Given the description of an element on the screen output the (x, y) to click on. 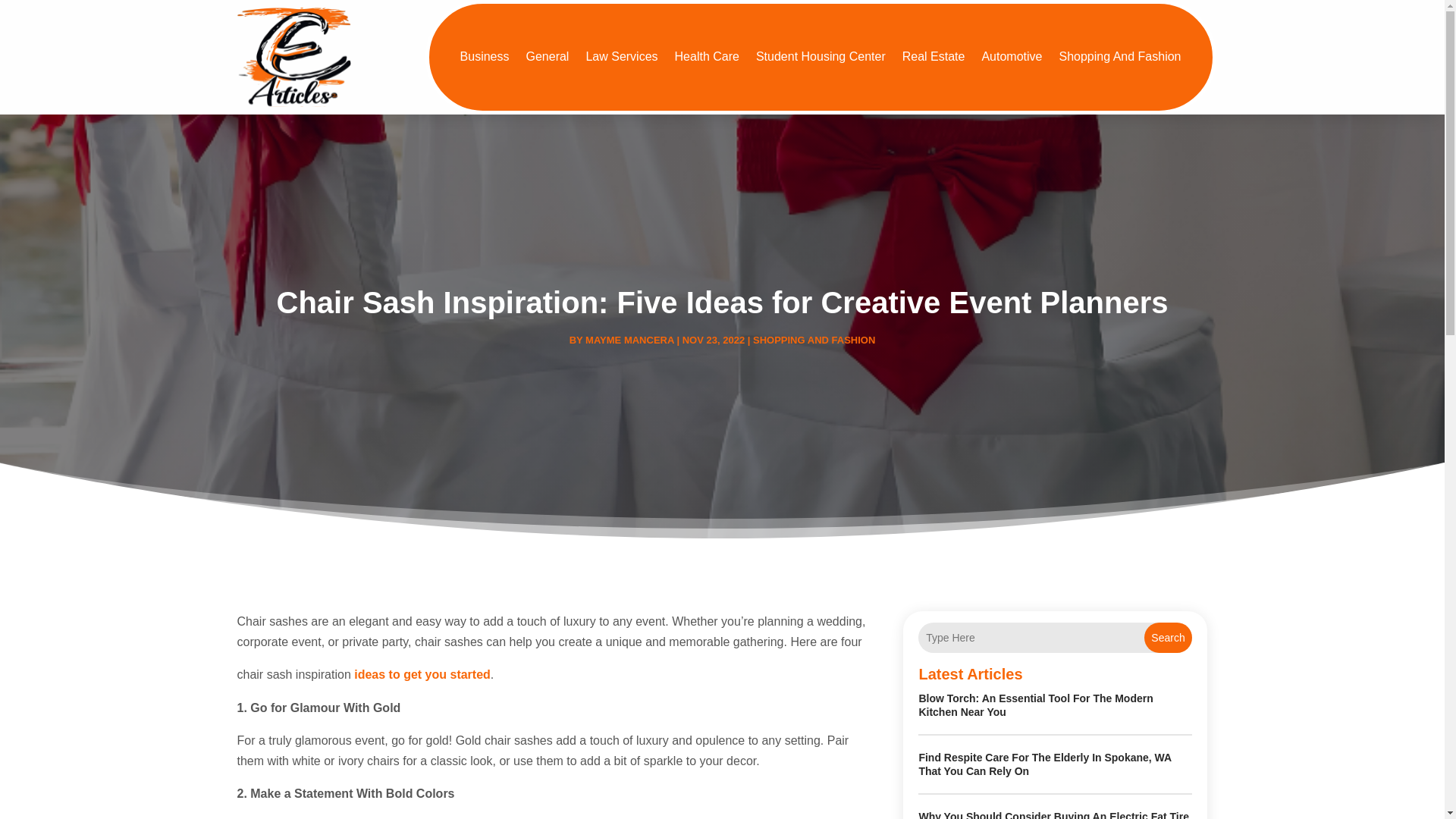
ideas to get you started (421, 674)
Posts by Mayme Mancera (629, 339)
Search (1168, 637)
Student Housing Center (820, 57)
SHOPPING AND FASHION (813, 339)
Shopping And Fashion (1119, 57)
Why You Should Consider Buying An Electric Fat Tire Bike (1053, 814)
MAYME MANCERA (629, 339)
